Given the description of an element on the screen output the (x, y) to click on. 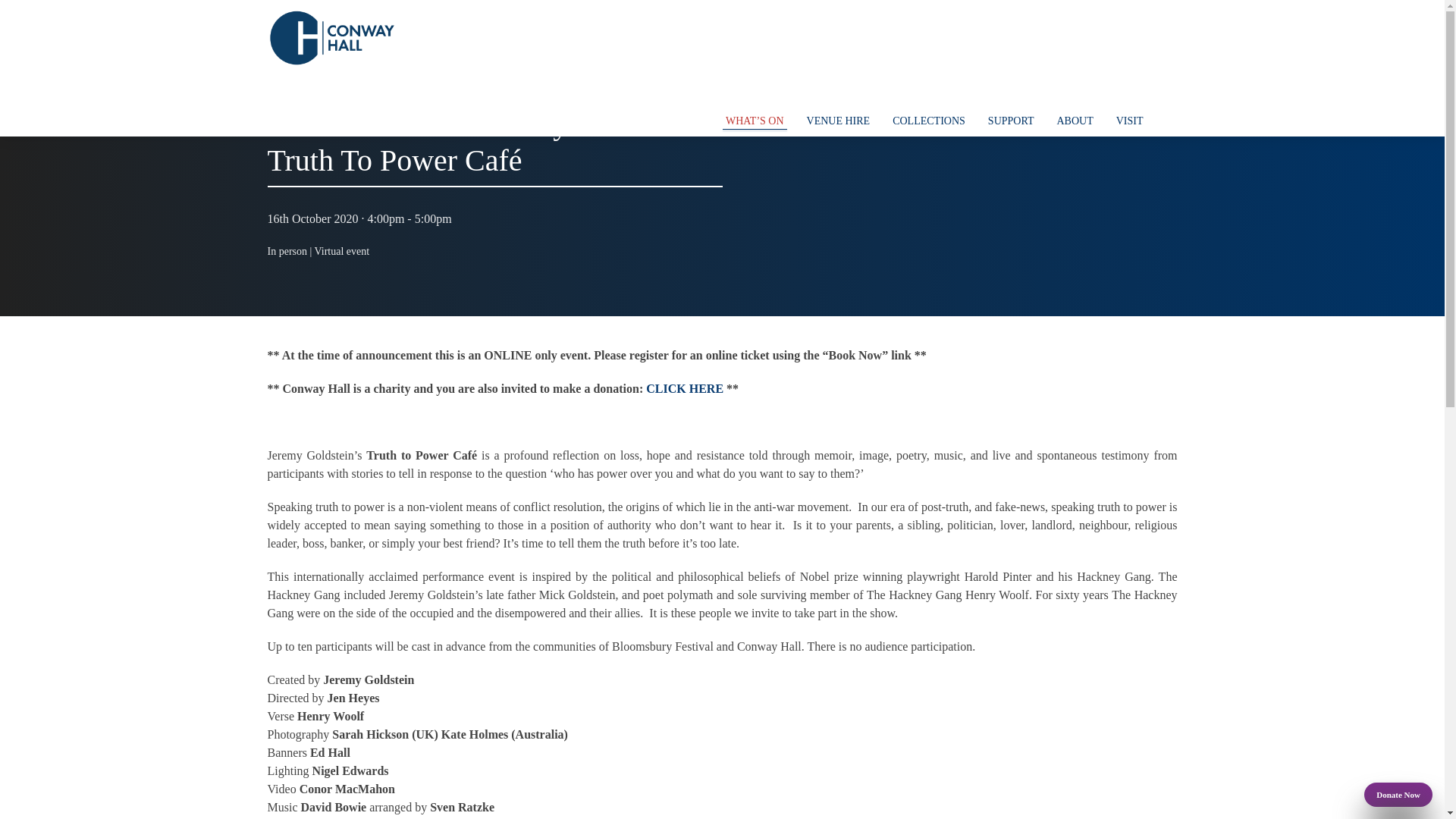
CLICK HERE (684, 388)
Conway Hall (331, 38)
COLLECTIONS (928, 121)
VISIT (1129, 121)
SUPPORT (1010, 121)
VENUE HIRE (838, 121)
Donate Now (1398, 794)
ABOUT (1074, 121)
